Given the description of an element on the screen output the (x, y) to click on. 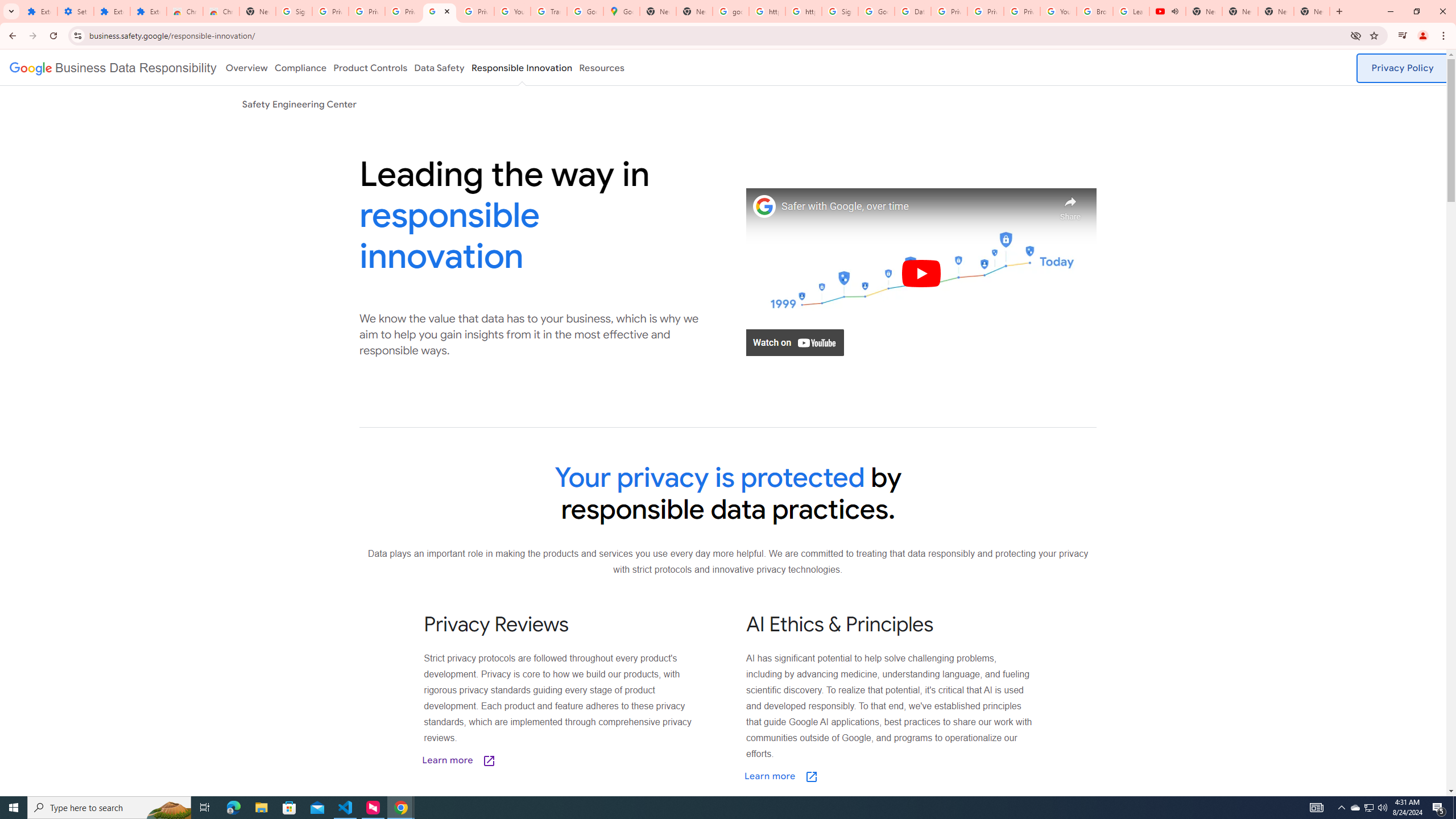
Sign in - Google Accounts (293, 11)
Privacy Help Center - Policies Help (985, 11)
Mute tab (1174, 10)
Privacy Policy (1402, 68)
